Given the description of an element on the screen output the (x, y) to click on. 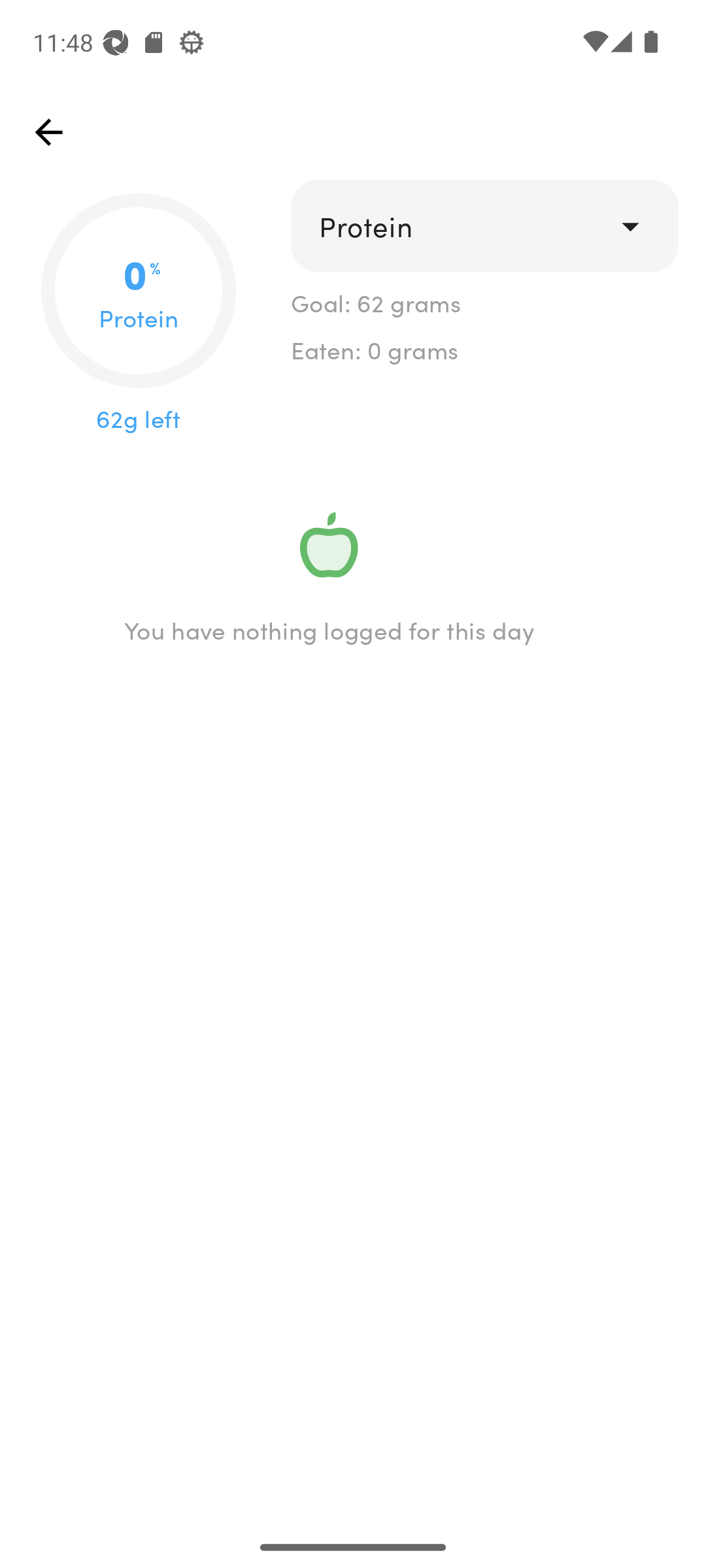
top_left_action (48, 132)
drop_down Protein (484, 226)
